Given the description of an element on the screen output the (x, y) to click on. 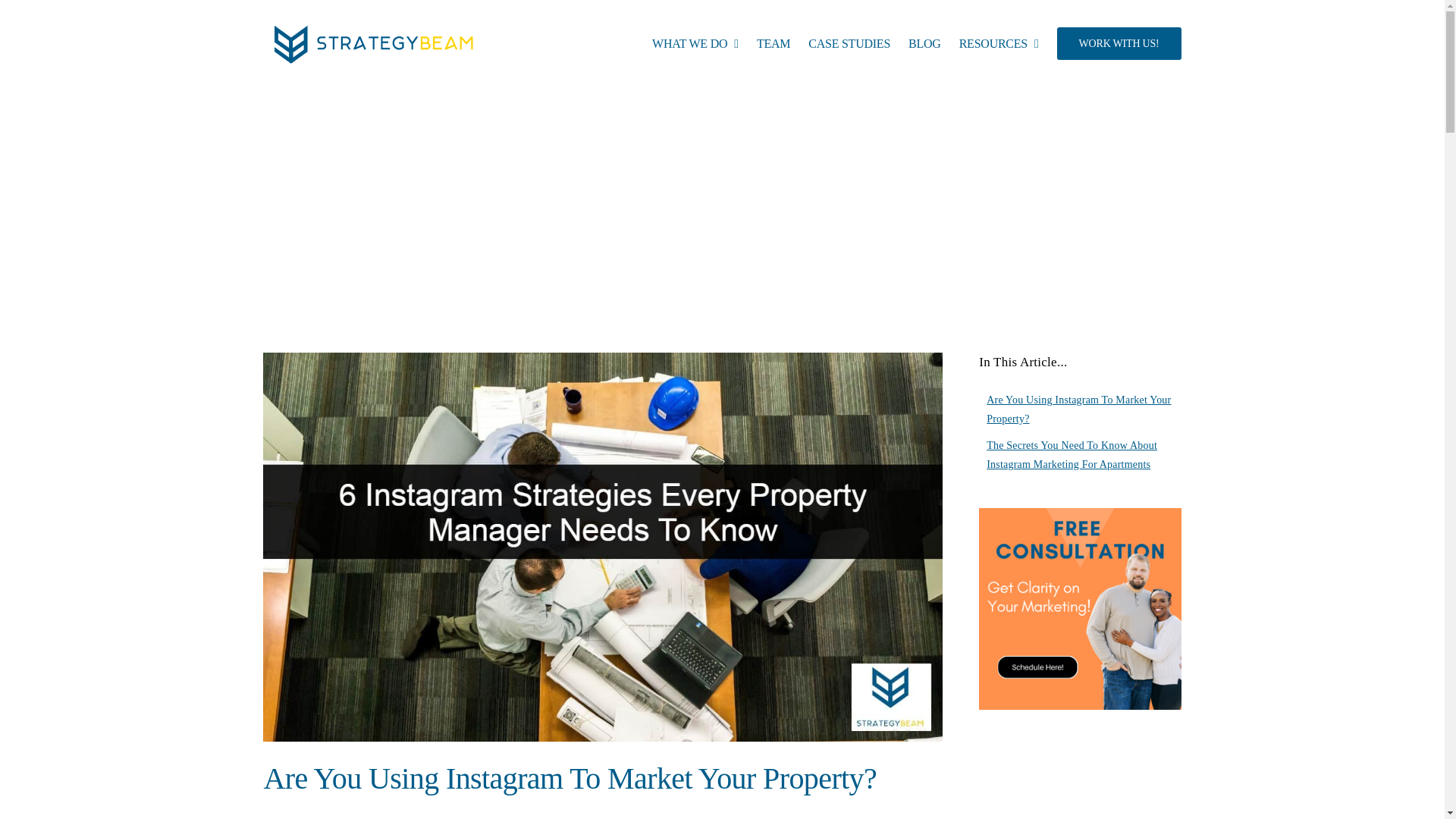
WORK WITH US! (1118, 43)
RESOURCES (999, 43)
WHAT WE DO (695, 43)
CASE STUDIES (848, 43)
